Given the description of an element on the screen output the (x, y) to click on. 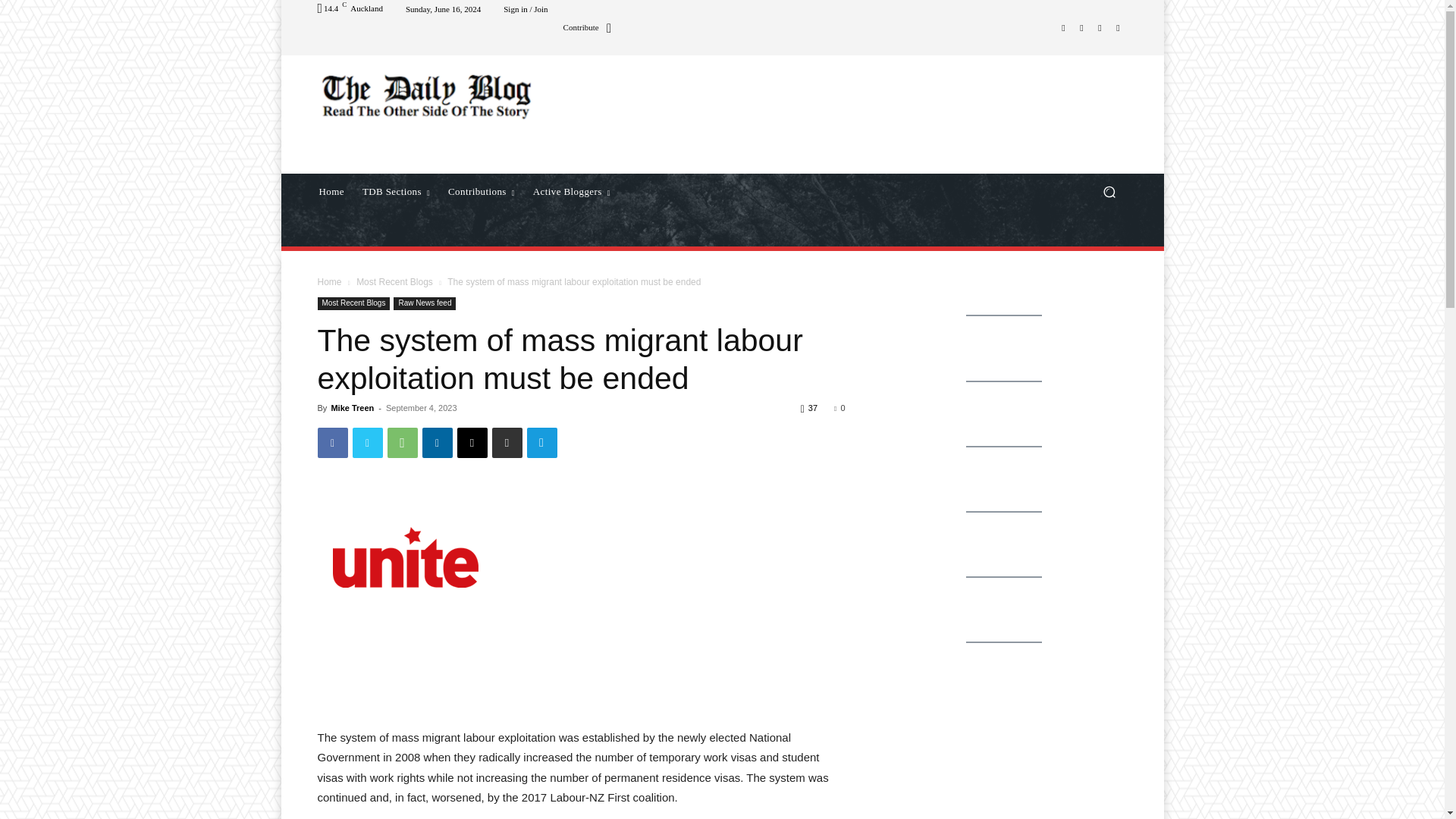
Twitter (366, 442)
Home (330, 191)
TDB Sections (396, 191)
Linkedin (436, 442)
Instagram (1080, 27)
Print (506, 442)
Twitter (1099, 27)
Youtube (1117, 27)
View all posts in Most Recent Blogs (394, 281)
Facebook (1062, 27)
Email (471, 442)
Facebook (332, 442)
Active Bloggers (572, 191)
WhatsApp (401, 442)
Contributions (481, 191)
